Given the description of an element on the screen output the (x, y) to click on. 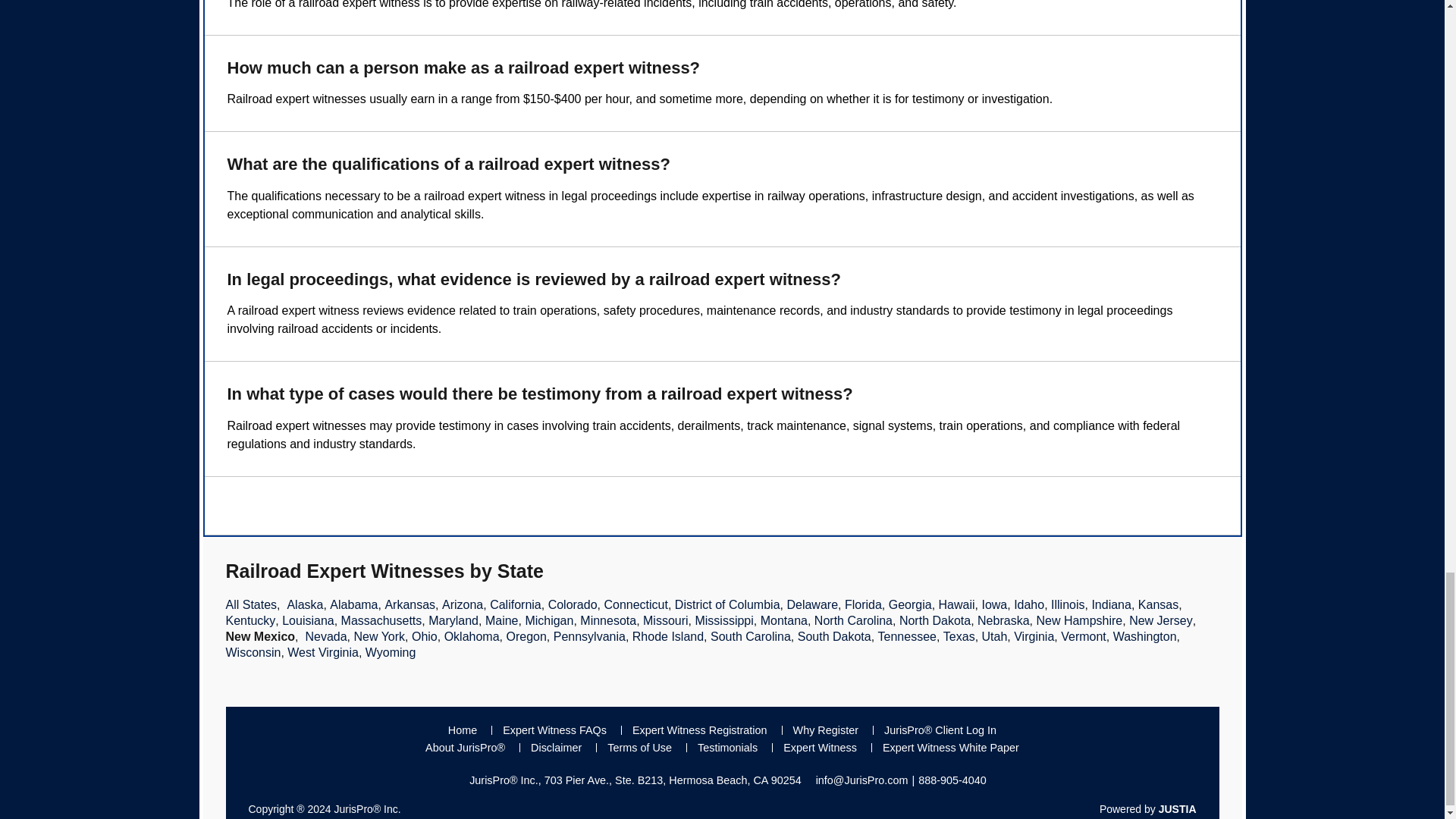
All States (251, 604)
Alaska (304, 604)
Alabama (353, 604)
